Given the description of an element on the screen output the (x, y) to click on. 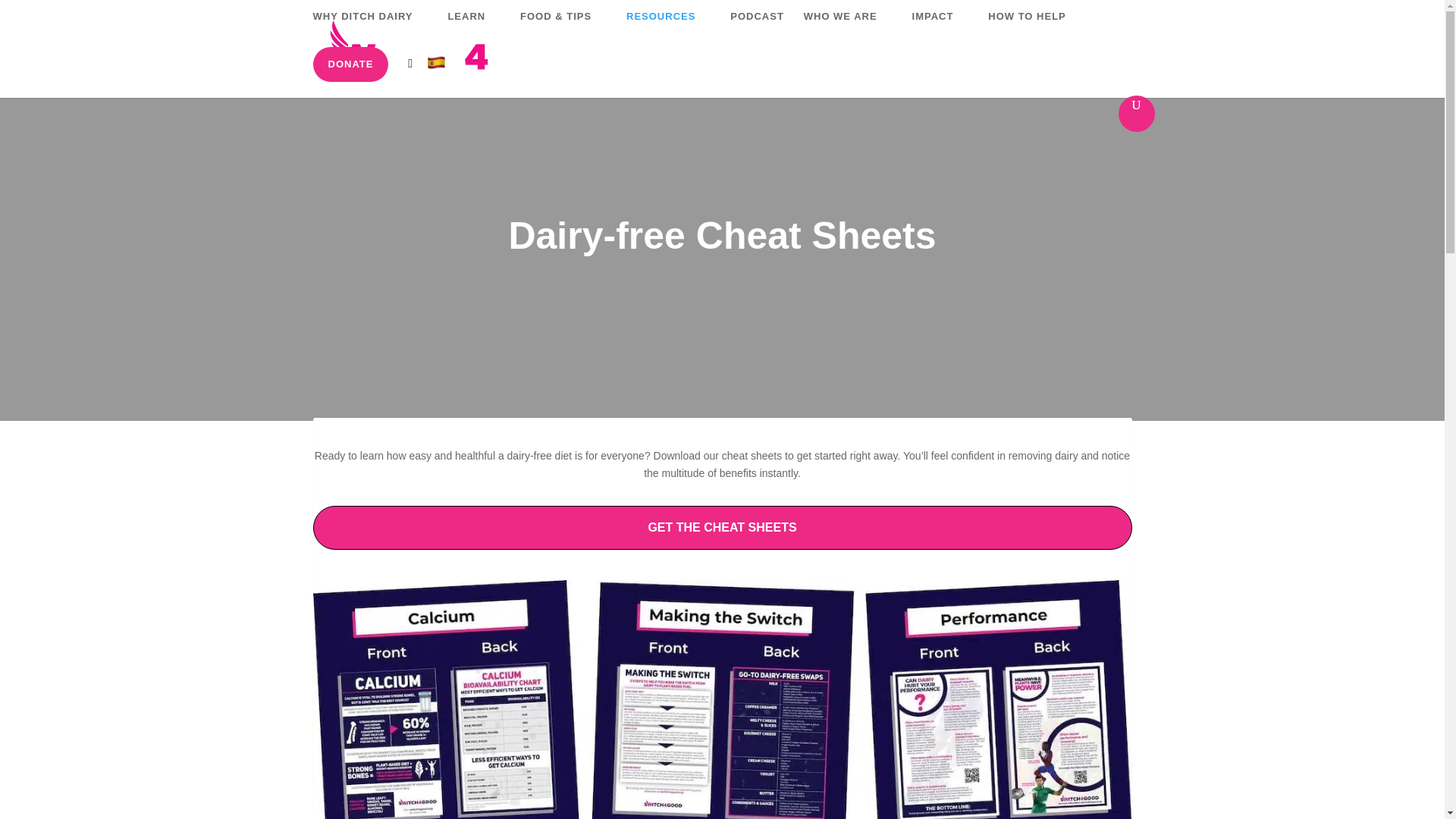
LEARN (473, 28)
PODCAST (757, 28)
WHY DITCH DAIRY (370, 28)
WHO WE ARE (847, 28)
RESOURCES (668, 28)
